Given the description of an element on the screen output the (x, y) to click on. 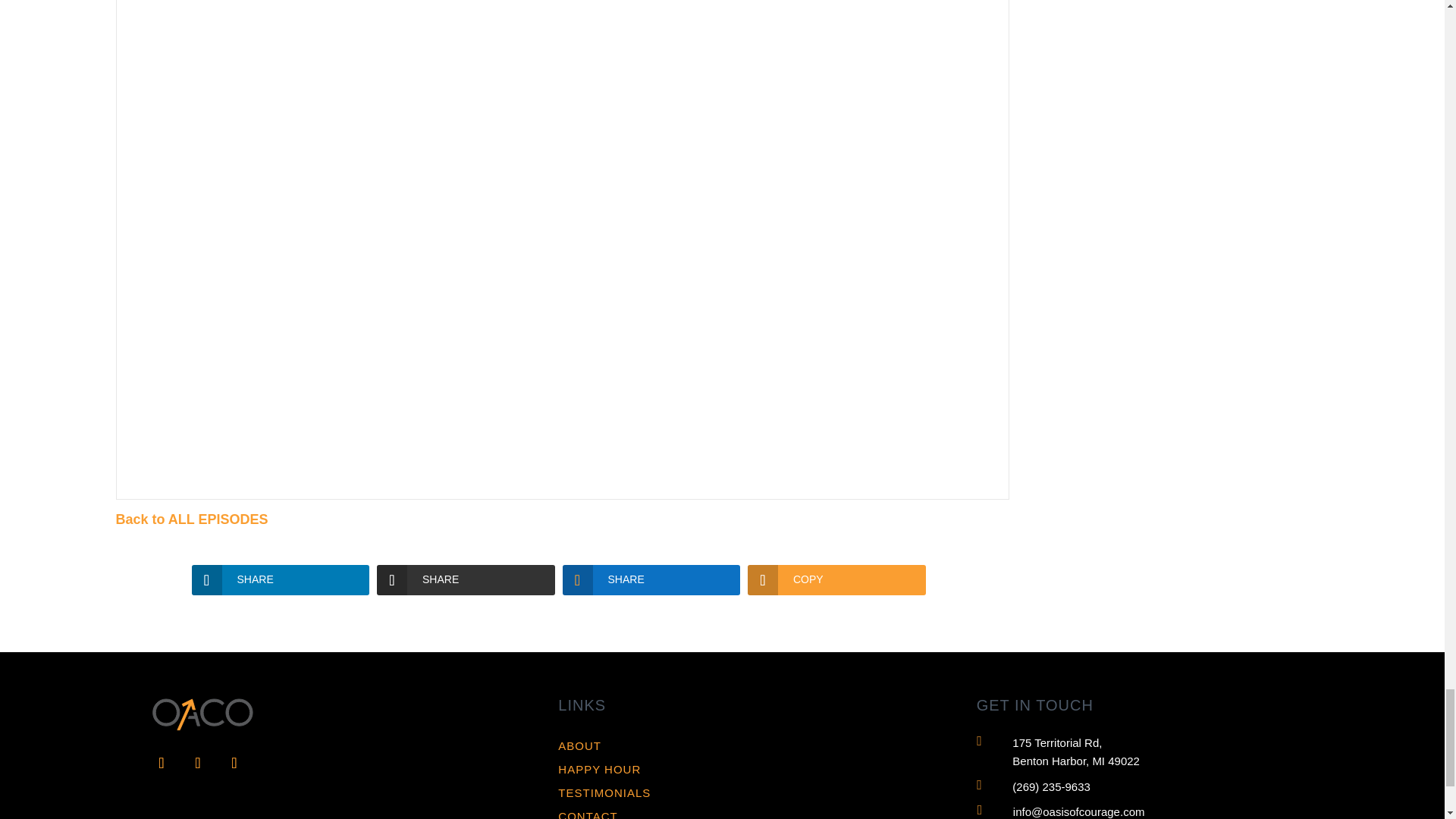
SHARE (465, 580)
HAPPY HOUR (598, 768)
TESTIMONIALS (603, 792)
About Page (579, 745)
Contact Page (587, 814)
SHARE (279, 580)
Testimonials Page (603, 792)
OACO Website Header-19 (200, 710)
Back to ALL EPISODES (191, 519)
CONTACT (587, 814)
Follow on Facebook (161, 762)
Follow on LinkedIn (197, 762)
Follow on Instagram (233, 762)
COPY (837, 580)
SHARE (651, 580)
